Given the description of an element on the screen output the (x, y) to click on. 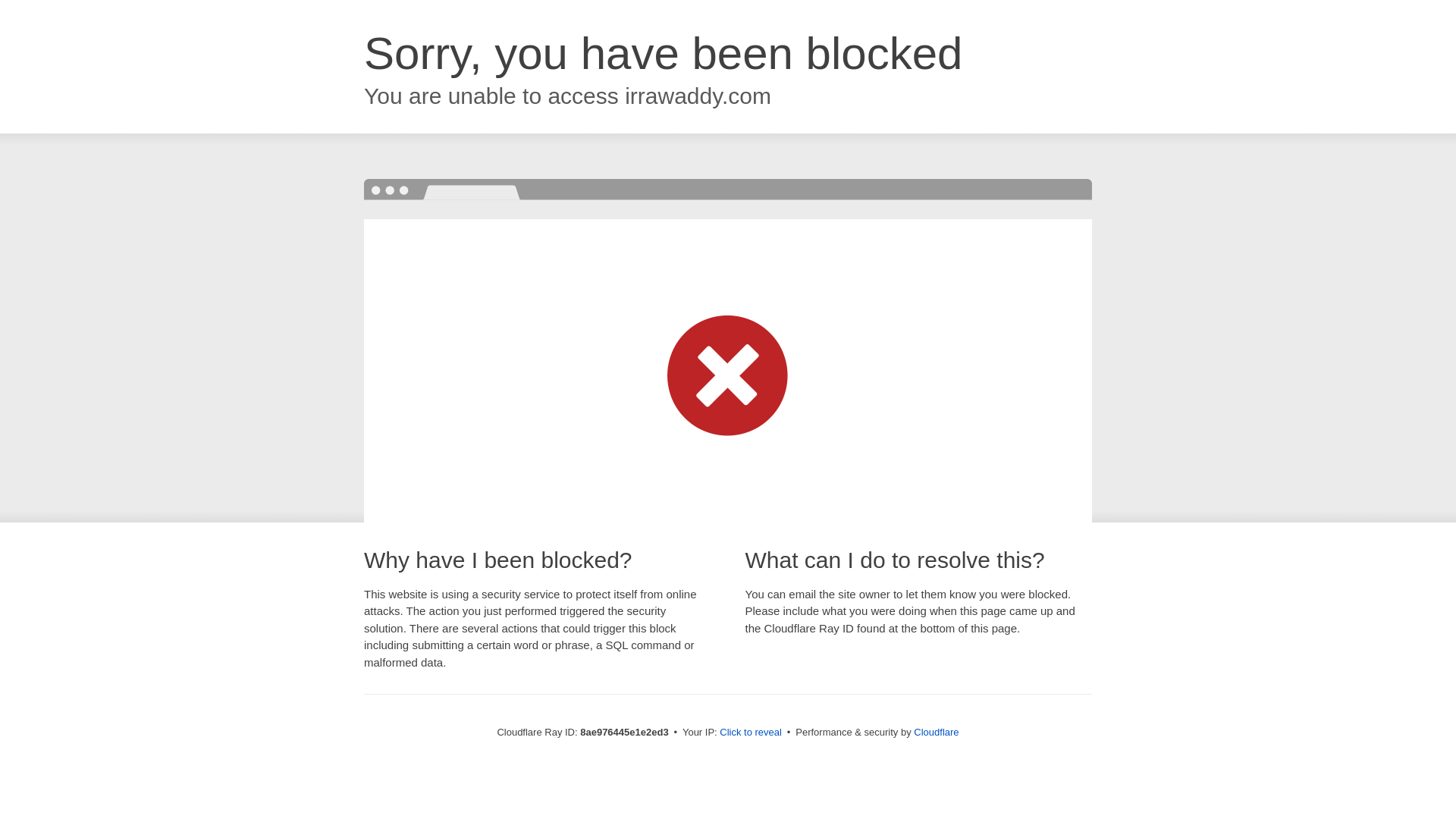
Click to reveal (750, 732)
Cloudflare (936, 731)
